Given the description of an element on the screen output the (x, y) to click on. 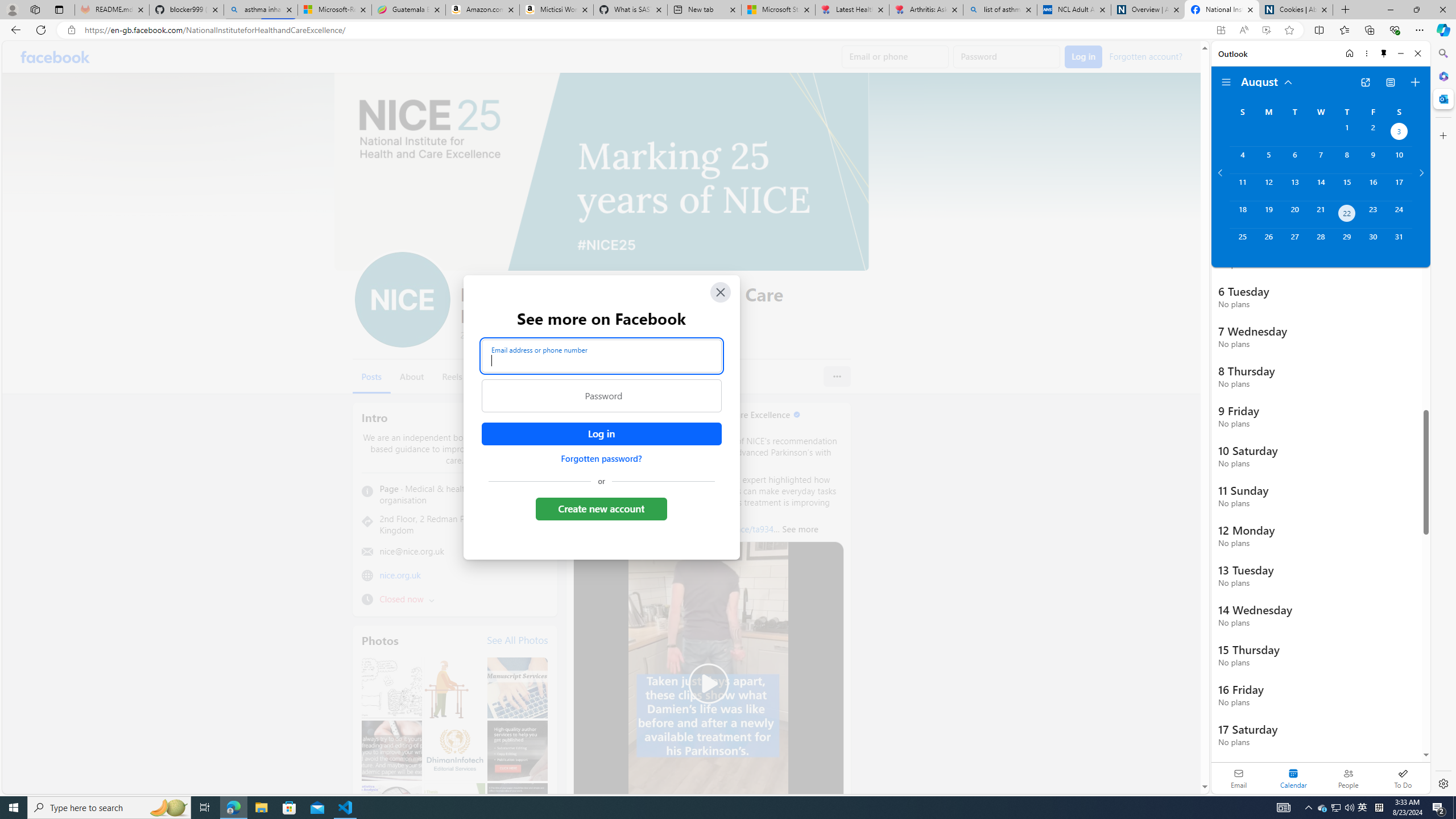
Tuesday, August 13, 2024.  (1294, 186)
Sunday, August 4, 2024.  (1242, 159)
Password (600, 395)
People (1347, 777)
Saturday, August 3, 2024. Date selected.  (1399, 132)
Friday, August 9, 2024.  (1372, 159)
App available. Install Facebook (1220, 29)
